Given the description of an element on the screen output the (x, y) to click on. 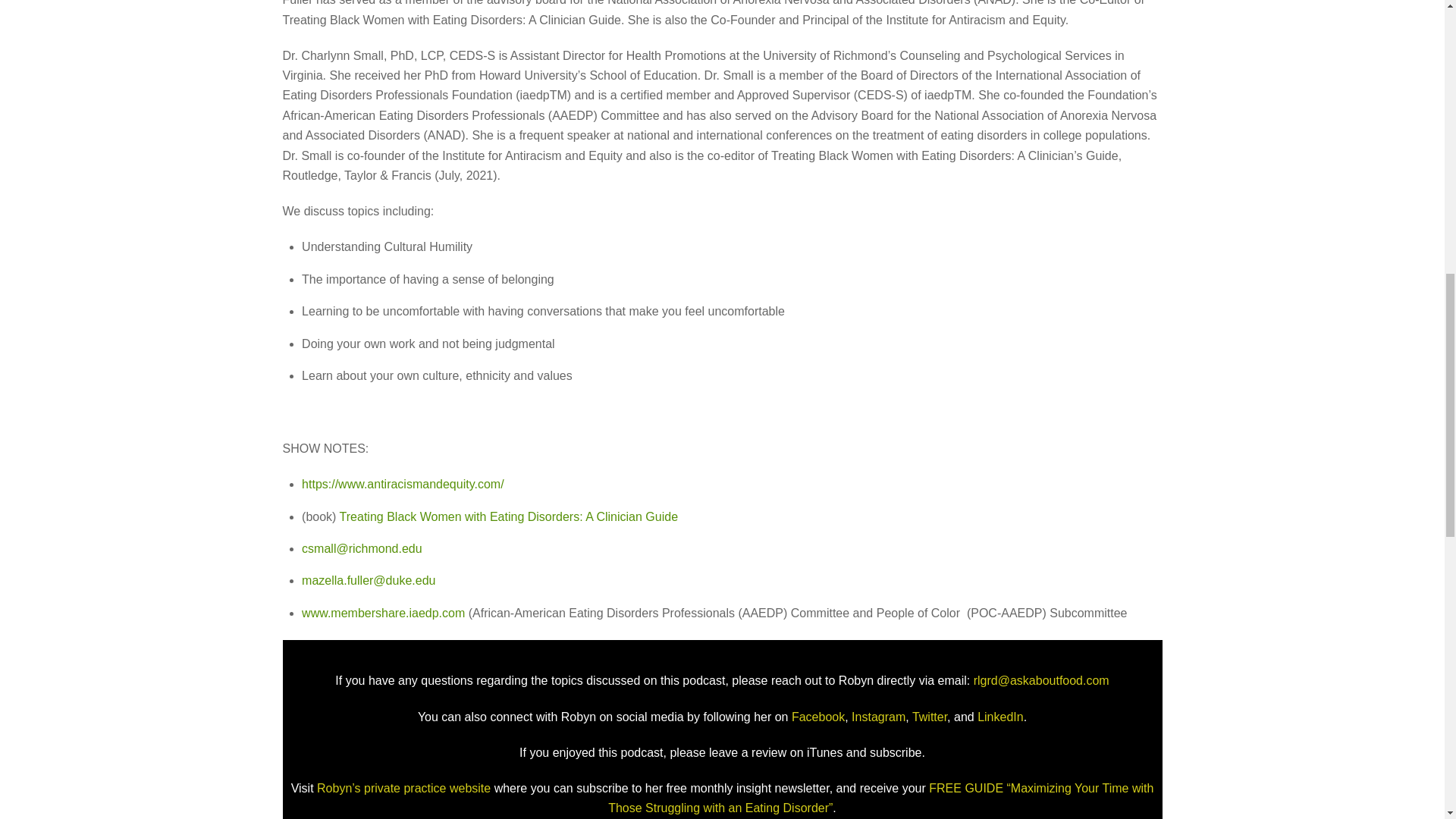
LinkedIn (998, 716)
Instagram (876, 716)
www.membershare.iaedp.com (382, 612)
Facebook (817, 716)
Twitter (927, 716)
